Given the description of an element on the screen output the (x, y) to click on. 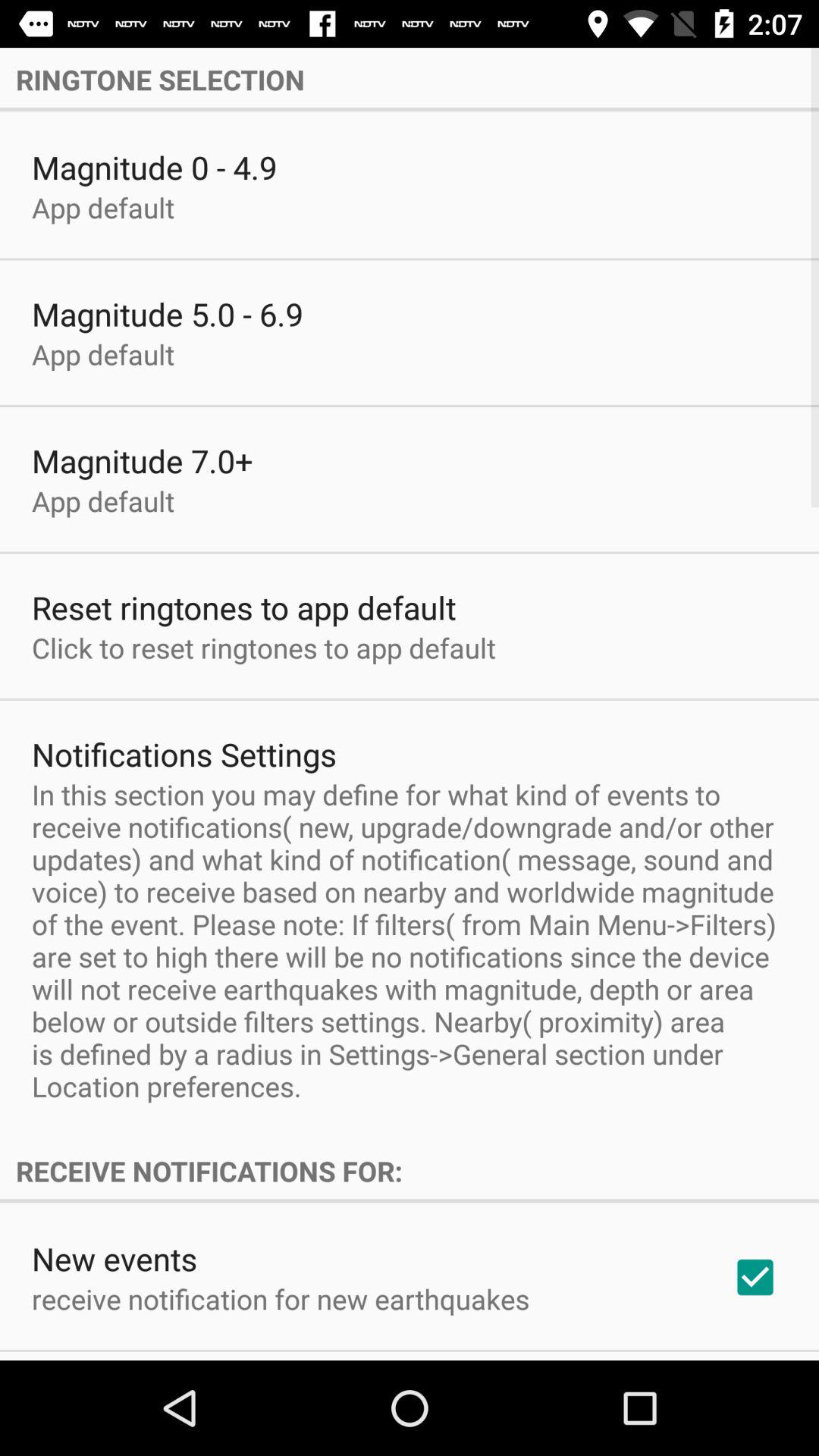
click item above in this section icon (183, 753)
